Given the description of an element on the screen output the (x, y) to click on. 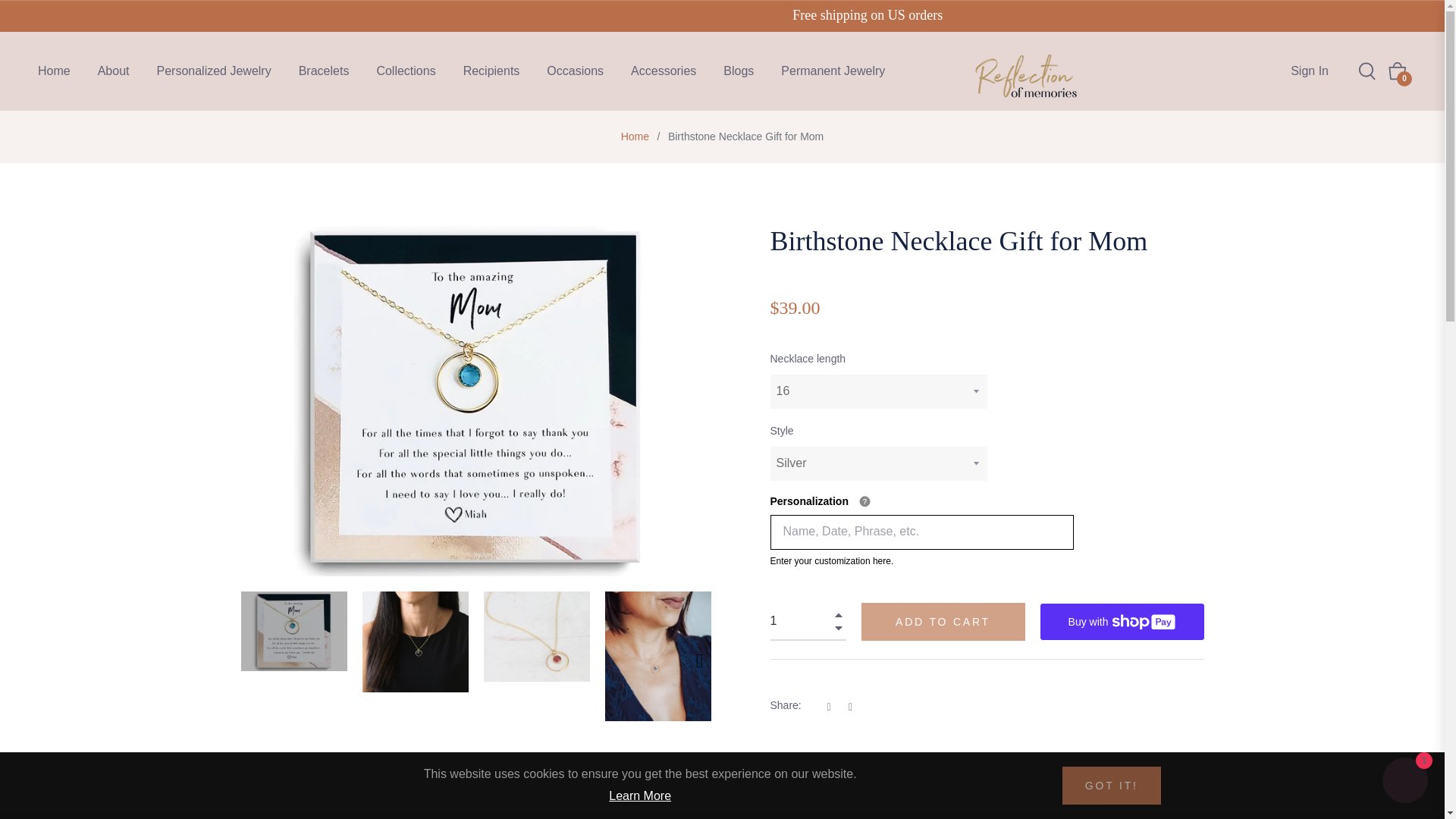
Personalized Jewelry (212, 71)
Occasions (574, 71)
Recipients (491, 71)
Bracelets (323, 71)
Shopping Cart (1397, 71)
1 (807, 621)
Collections (405, 71)
Shopify online store chat (1404, 781)
Home (634, 136)
